Given the description of an element on the screen output the (x, y) to click on. 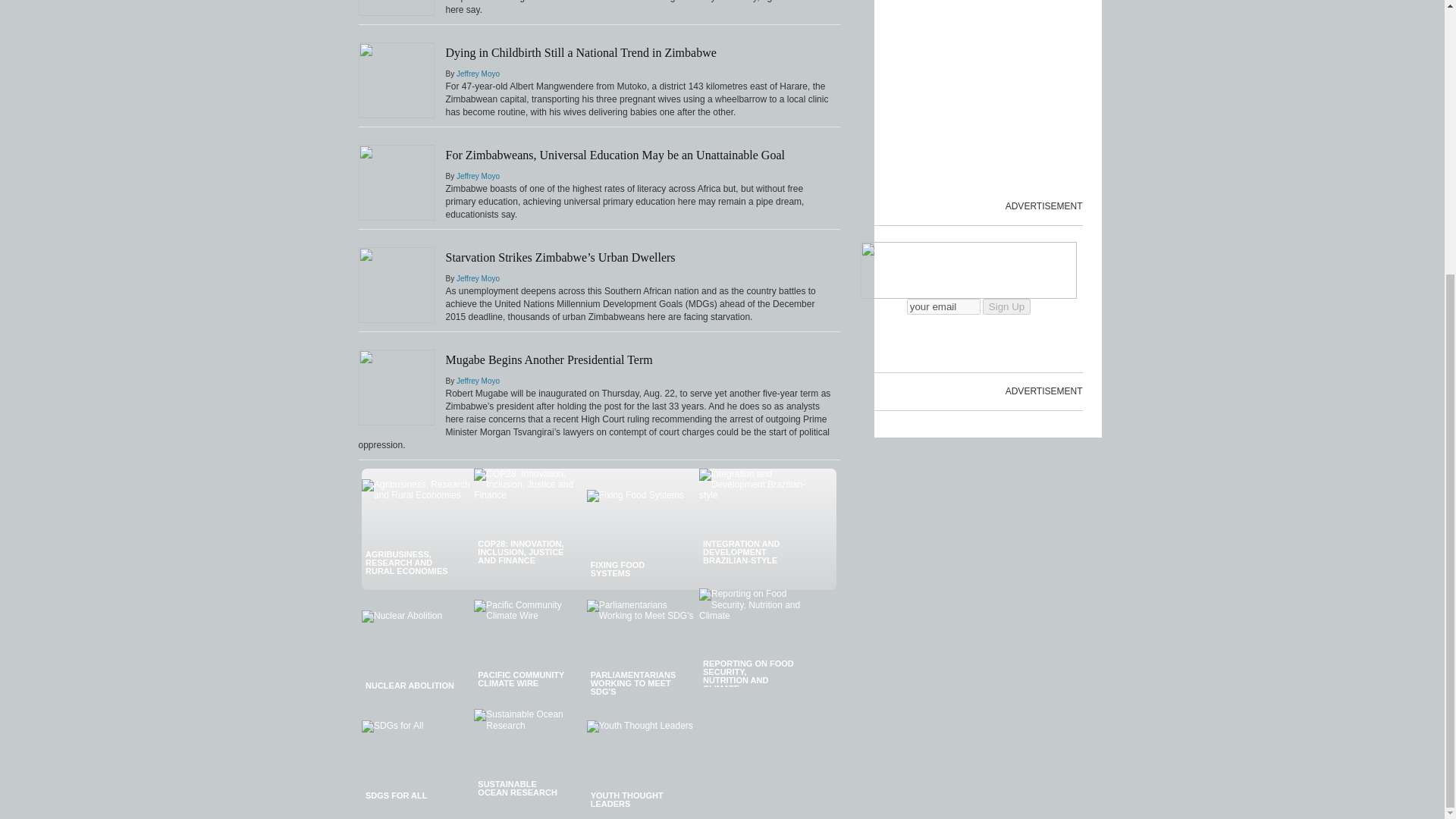
Mugabe Begins Another Presidential Term (548, 359)
Posts by Jeffrey Moyo (478, 380)
Posts by Jeffrey Moyo (478, 175)
Sign Up (1006, 306)
your email (943, 306)
Dying in Childbirth Still a National Trend in Zimbabwe (580, 51)
Posts by Jeffrey Moyo (478, 73)
Posts by Jeffrey Moyo (478, 278)
